Given the description of an element on the screen output the (x, y) to click on. 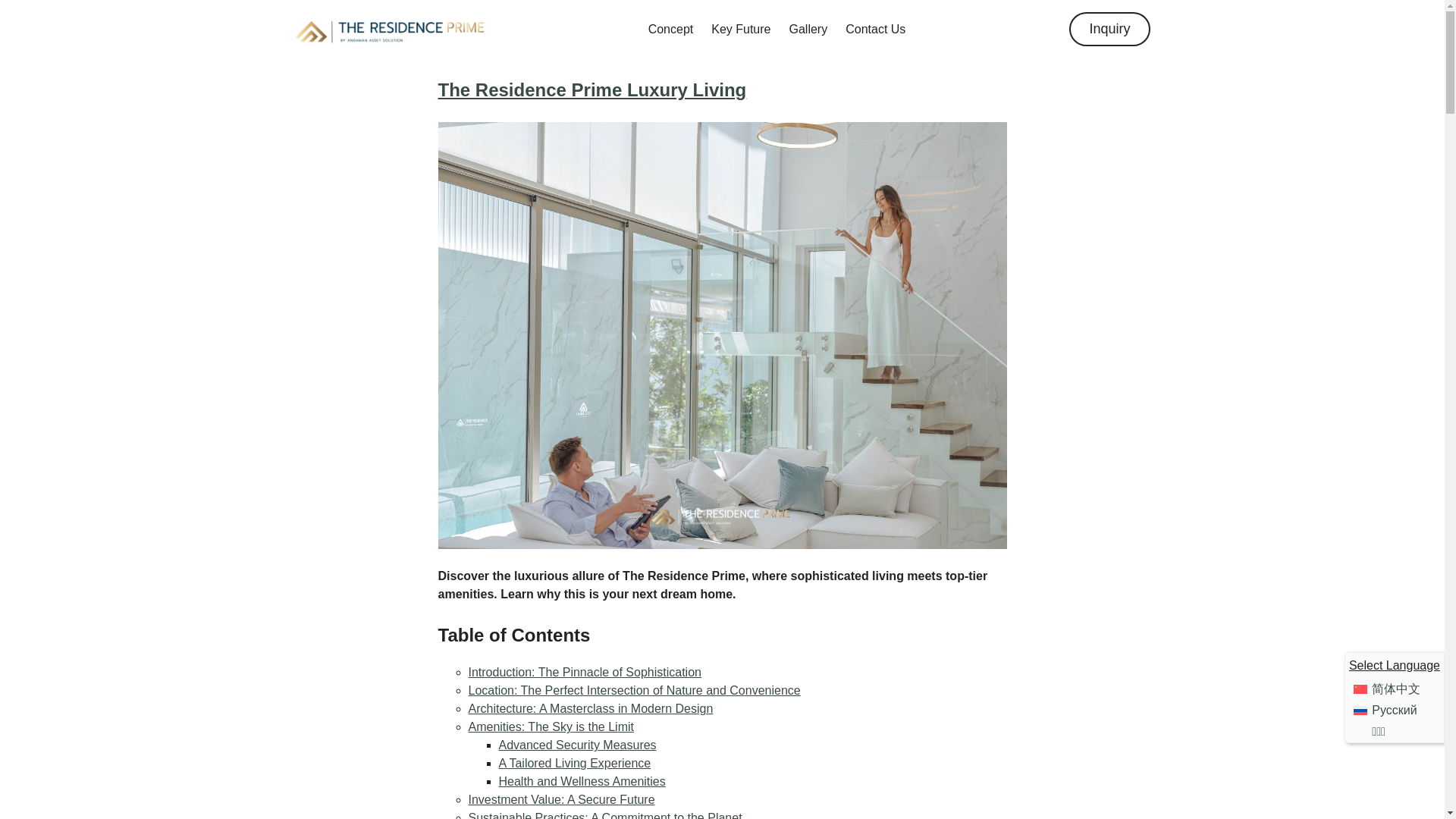
Amenities: The Sky is the Limit (550, 726)
Architecture: A Masterclass in Modern Design (590, 707)
A Tailored Living Experience (574, 762)
Location: The Perfect Intersection of Nature and Convenience (634, 689)
Advanced Security Measures (577, 744)
Key Future (740, 29)
Contact Us (875, 29)
Sustainable Practices: A Commitment to the Planet (605, 815)
Inquiry (1109, 28)
Investment Value: A Secure Future (561, 799)
